Given the description of an element on the screen output the (x, y) to click on. 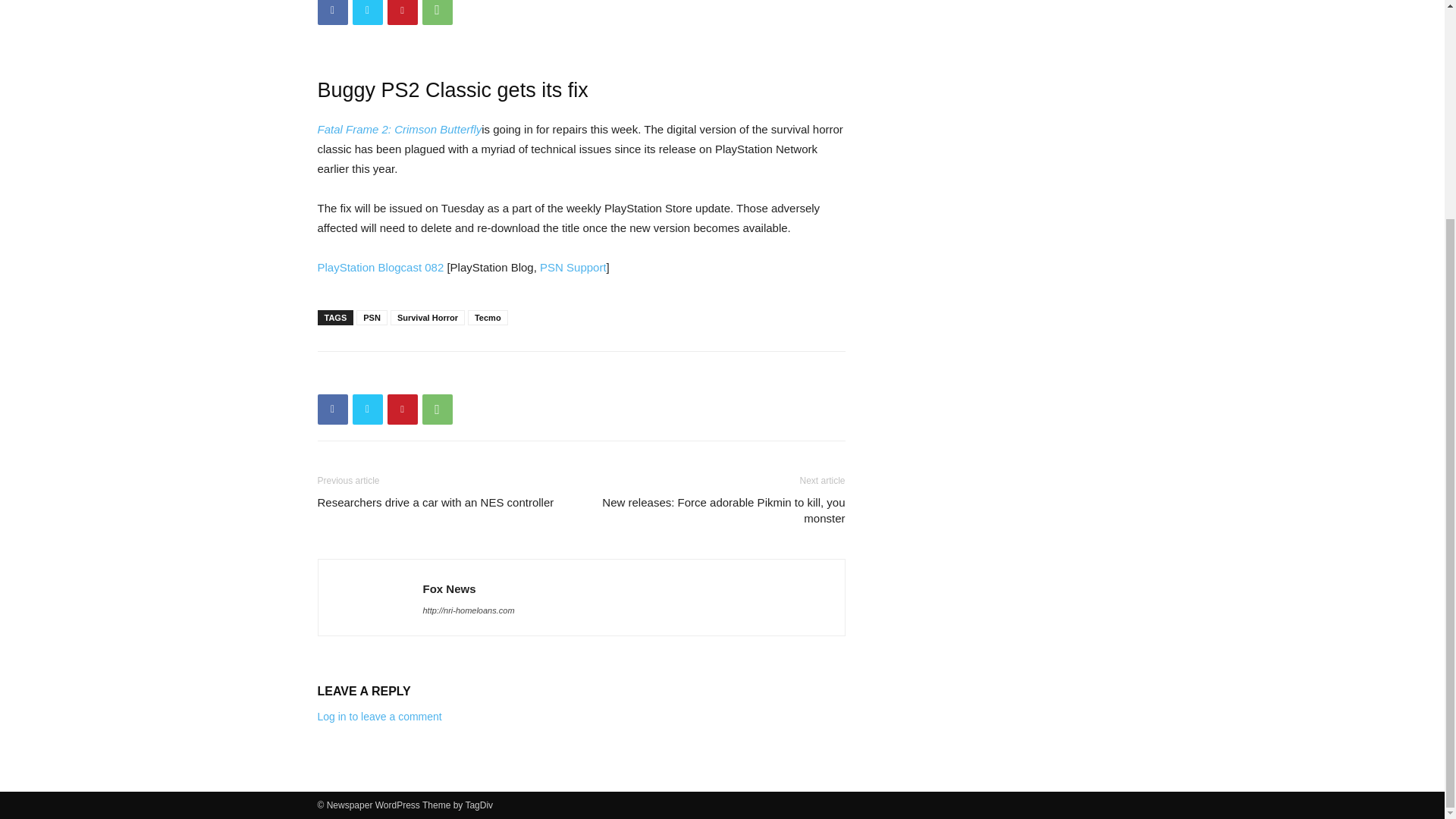
New releases: Force adorable Pikmin to kill, you monster (721, 510)
Facebook (332, 409)
PSN Support (573, 267)
Researchers drive a car with an NES controller (435, 502)
Twitter (366, 12)
Fatal Frame 2: Crimson Butterfly (399, 128)
PSN (371, 317)
bottomFacebookLike (430, 375)
Fox News (449, 588)
Pinterest (401, 12)
WhatsApp (436, 409)
Survival Horror (427, 317)
Facebook (332, 12)
WhatsApp (436, 12)
Tecmo (487, 317)
